Given the description of an element on the screen output the (x, y) to click on. 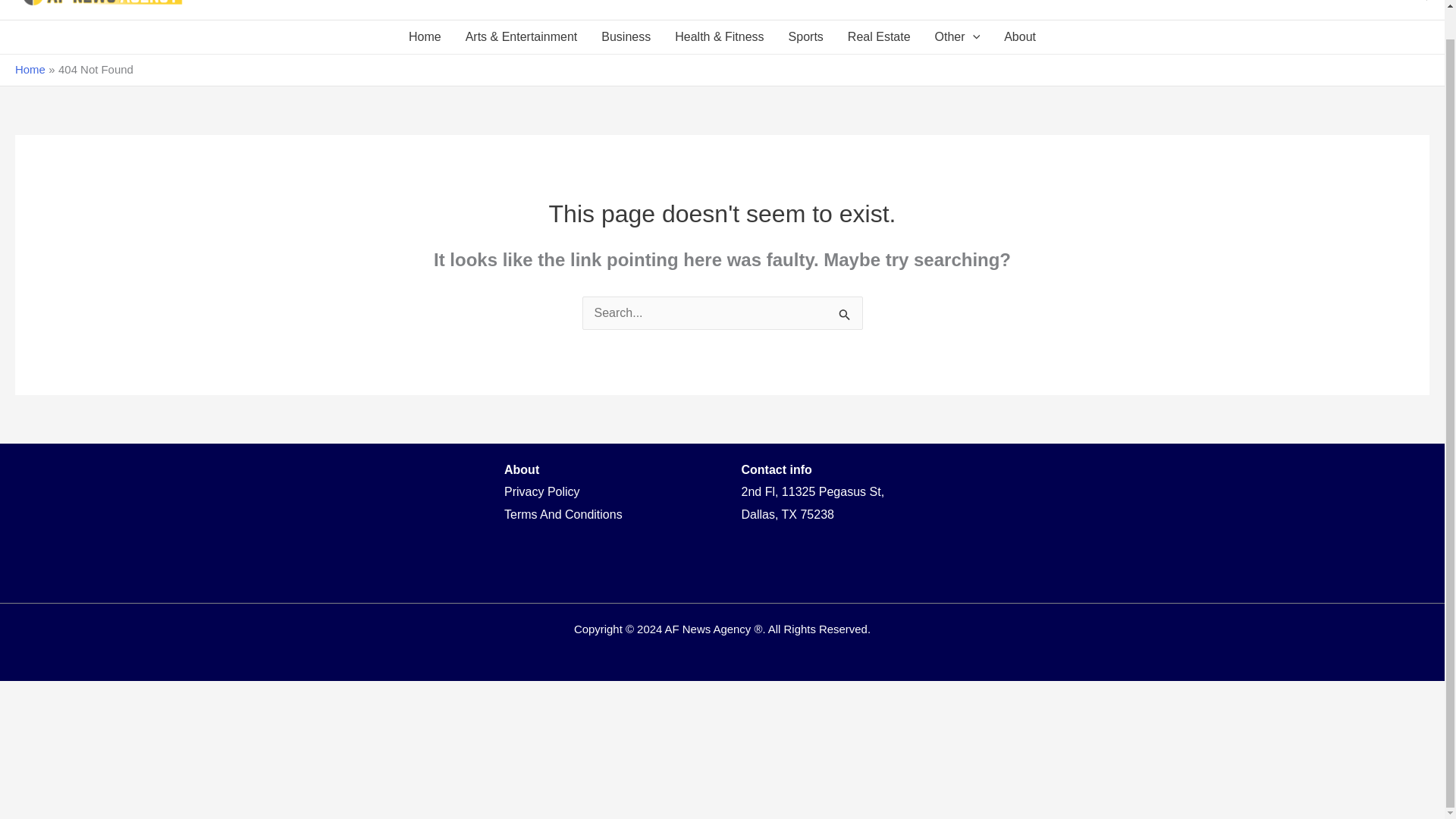
Sports (805, 37)
Home (424, 37)
Business (625, 37)
Other (957, 37)
About (1019, 37)
Real Estate (879, 37)
